Given the description of an element on the screen output the (x, y) to click on. 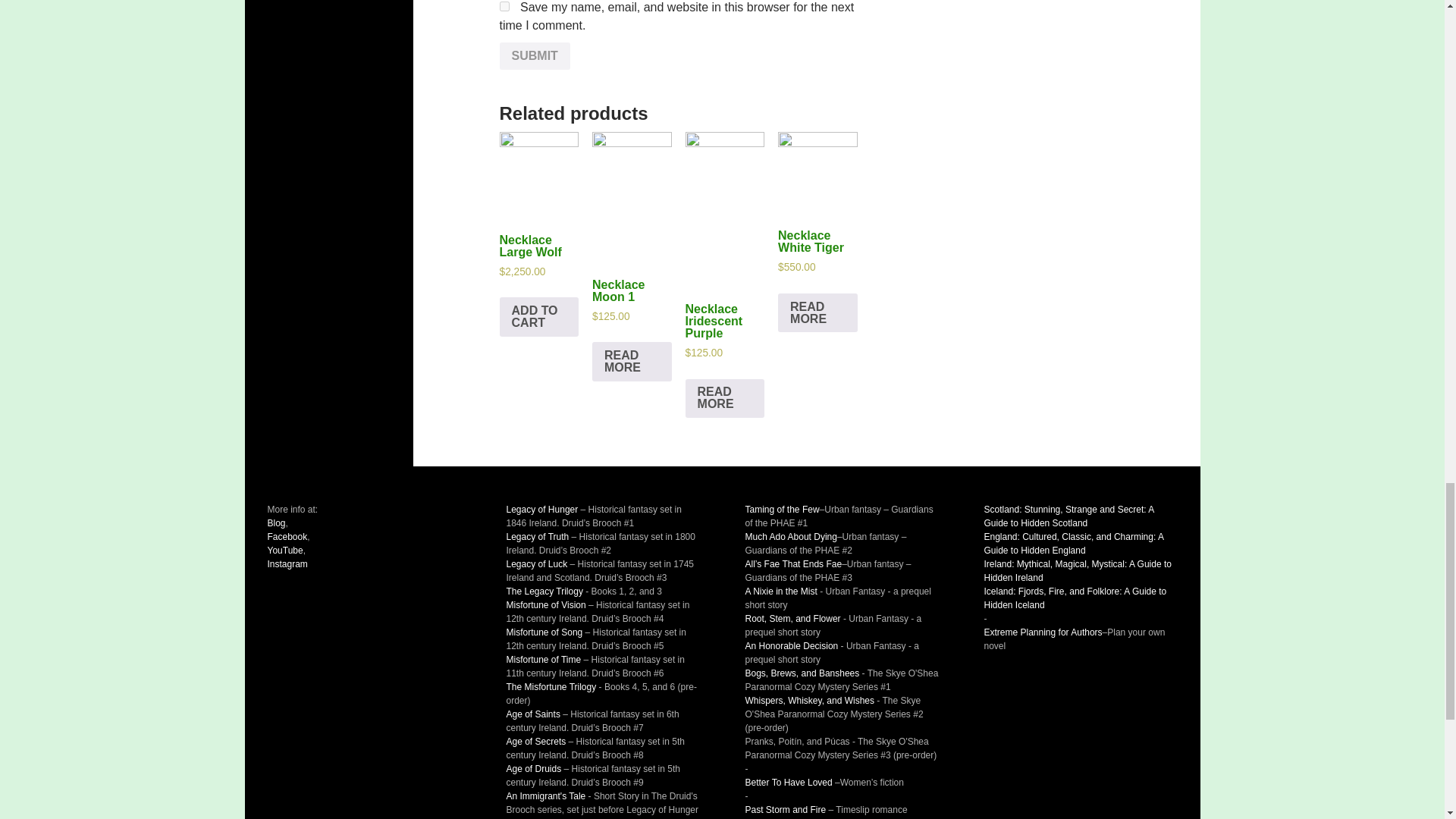
Submit (534, 55)
yes (504, 6)
